Given the description of an element on the screen output the (x, y) to click on. 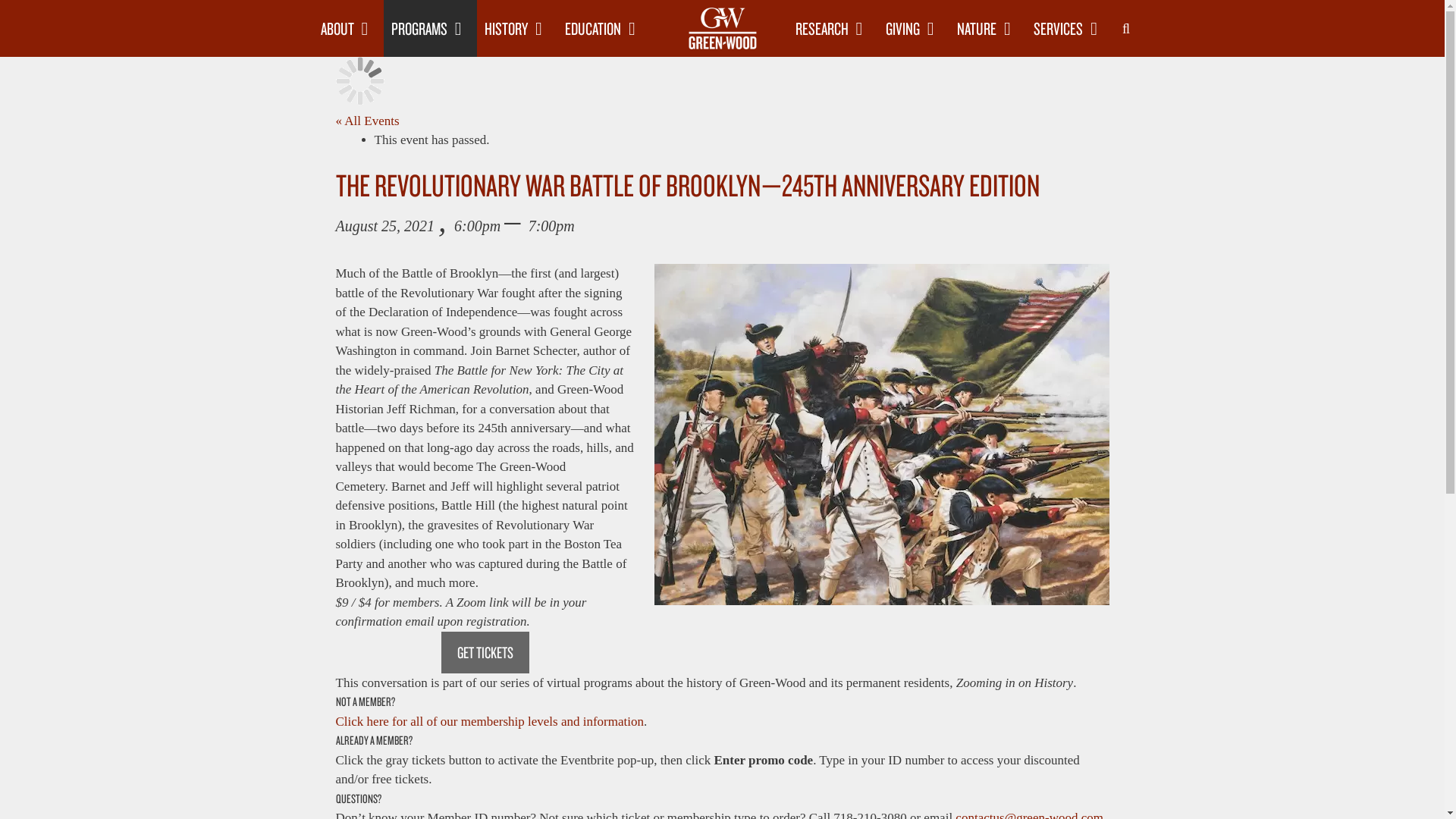
Green-Wood (721, 28)
